Given the description of an element on the screen output the (x, y) to click on. 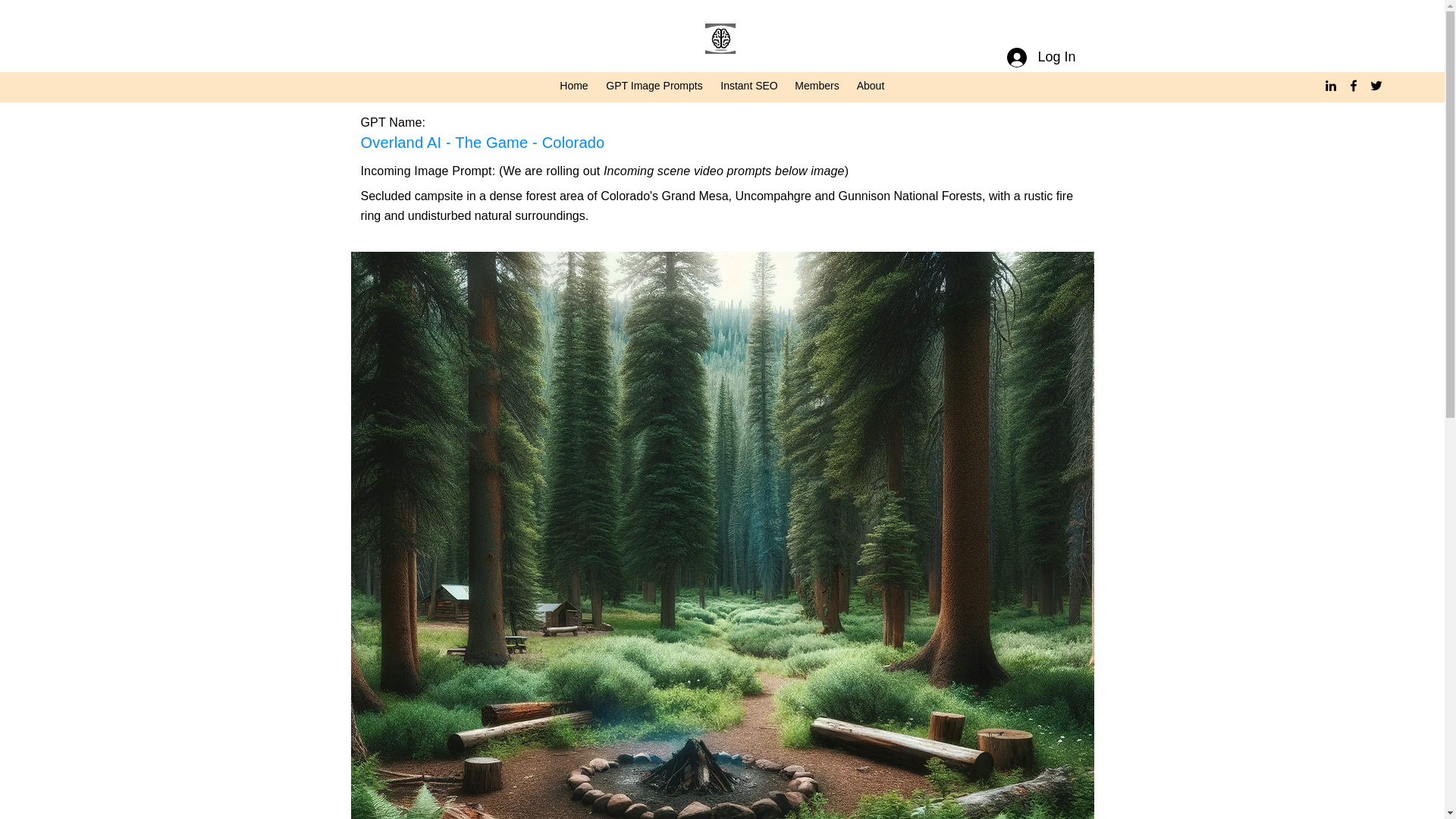
Instant SEO (749, 85)
Log In (1040, 57)
Members (816, 85)
Home (573, 85)
GPT Image Prompts (653, 85)
About (869, 85)
